Given the description of an element on the screen output the (x, y) to click on. 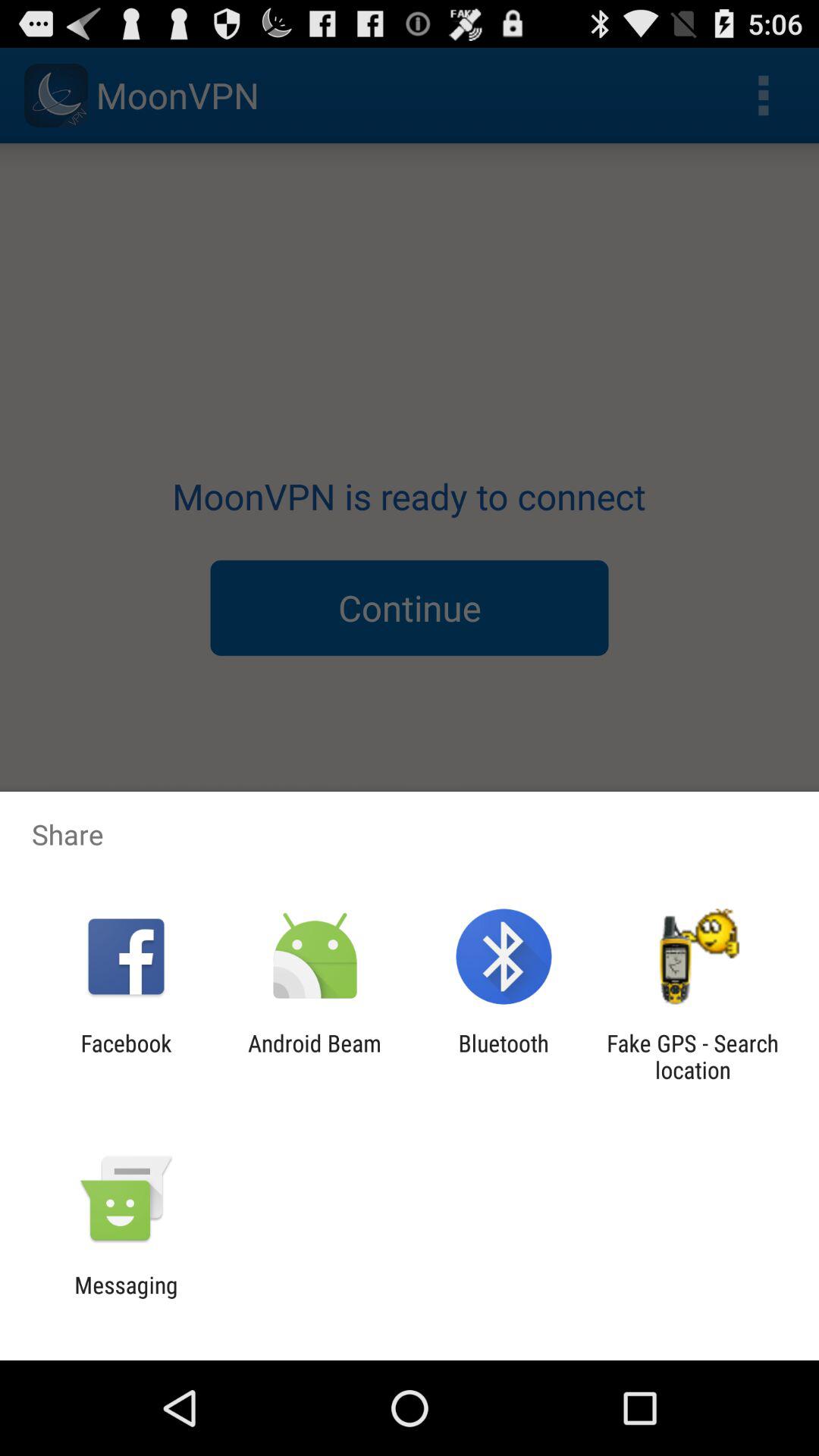
turn off item to the left of bluetooth app (314, 1056)
